Given the description of an element on the screen output the (x, y) to click on. 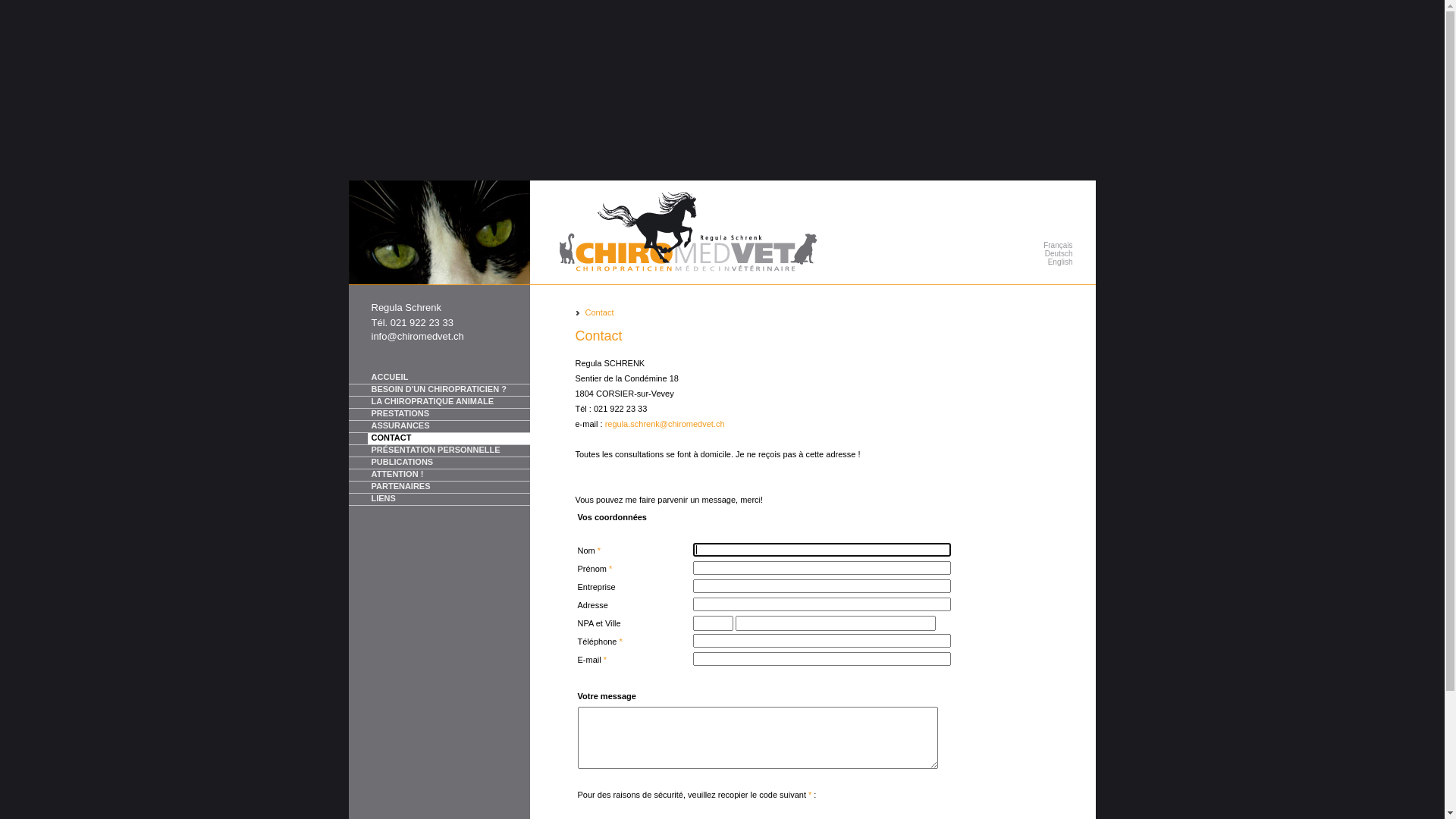
BESOIN D'UN CHIROPRATICIEN ? Element type: text (448, 389)
ASSURANCES Element type: text (439, 426)
PRESTATIONS Element type: text (448, 414)
CONTACT Element type: text (439, 439)
ATTENTION ! Element type: text (439, 475)
ATTENTION ! Element type: text (448, 474)
CONTACT Element type: text (448, 438)
PARTENAIRES Element type: text (448, 486)
ACCUEIL Element type: text (439, 378)
BESOIN D'UN CHIROPRATICIEN ? Element type: text (439, 390)
PUBLICATIONS Element type: text (448, 462)
Contact Element type: text (599, 311)
LA CHIROPRATIQUE ANIMALE Element type: text (439, 402)
PARTENAIRES Element type: text (439, 487)
LA CHIROPRATIQUE ANIMALE Element type: text (448, 401)
English Element type: text (1038, 261)
info@chiromedvet.ch Element type: text (417, 336)
ACCUEIL Element type: text (448, 377)
LIENS Element type: text (439, 499)
Deutsch Element type: text (1038, 253)
PUBLICATIONS Element type: text (439, 463)
LIENS Element type: text (448, 499)
regula.schrenk@chiromedvet.ch Element type: text (664, 423)
ASSURANCES Element type: text (448, 426)
PRESTATIONS Element type: text (439, 414)
